Given the description of an element on the screen output the (x, y) to click on. 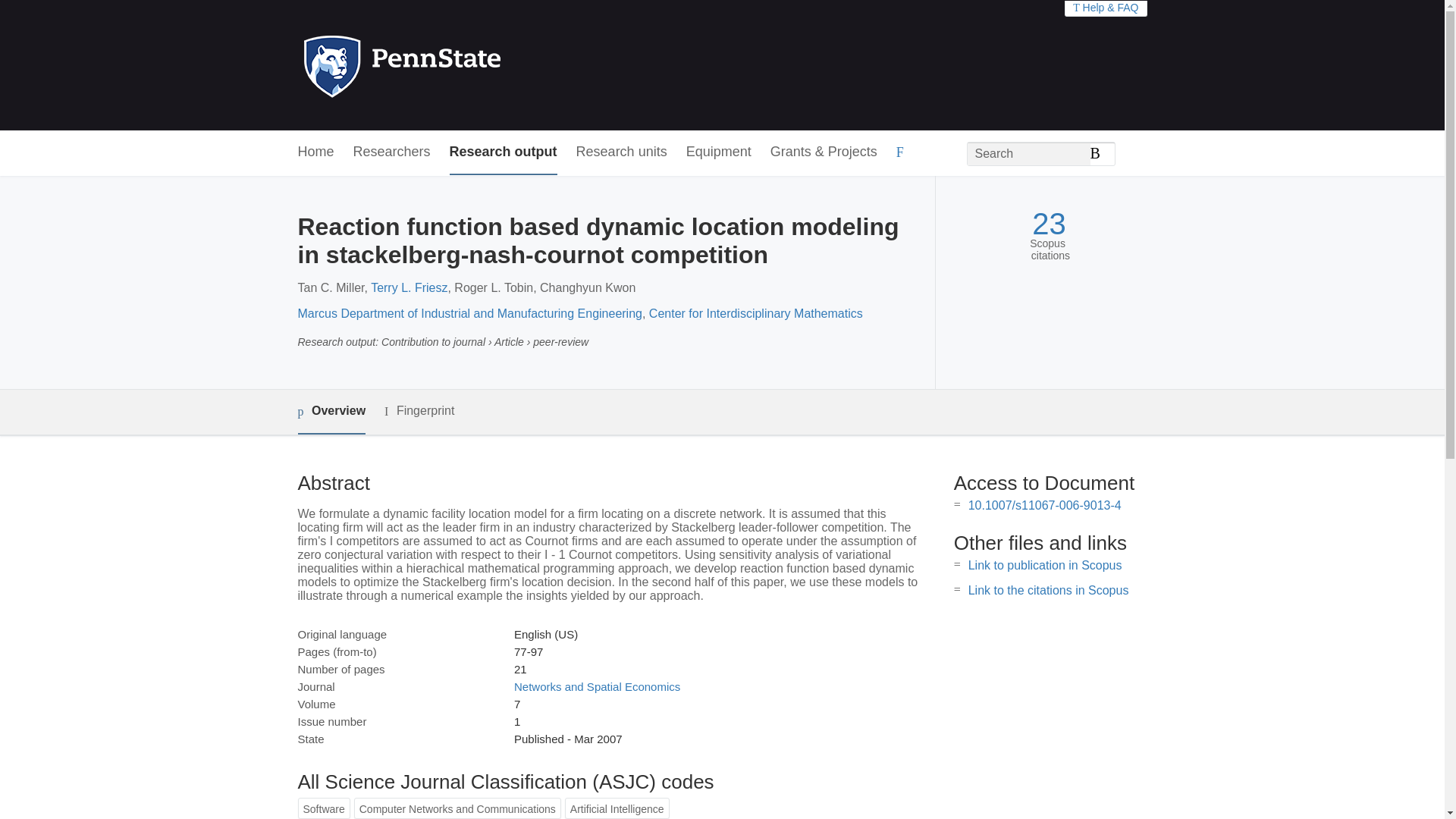
Link to publication in Scopus (1045, 564)
Research output (503, 152)
Researchers (391, 152)
Networks and Spatial Economics (596, 686)
Overview (331, 411)
Penn State Home (467, 65)
Link to the citations in Scopus (1048, 590)
Equipment (718, 152)
Fingerprint (419, 411)
Center for Interdisciplinary Mathematics (756, 313)
Terry L. Friesz (408, 287)
23 (1048, 223)
Research units (621, 152)
